Given the description of an element on the screen output the (x, y) to click on. 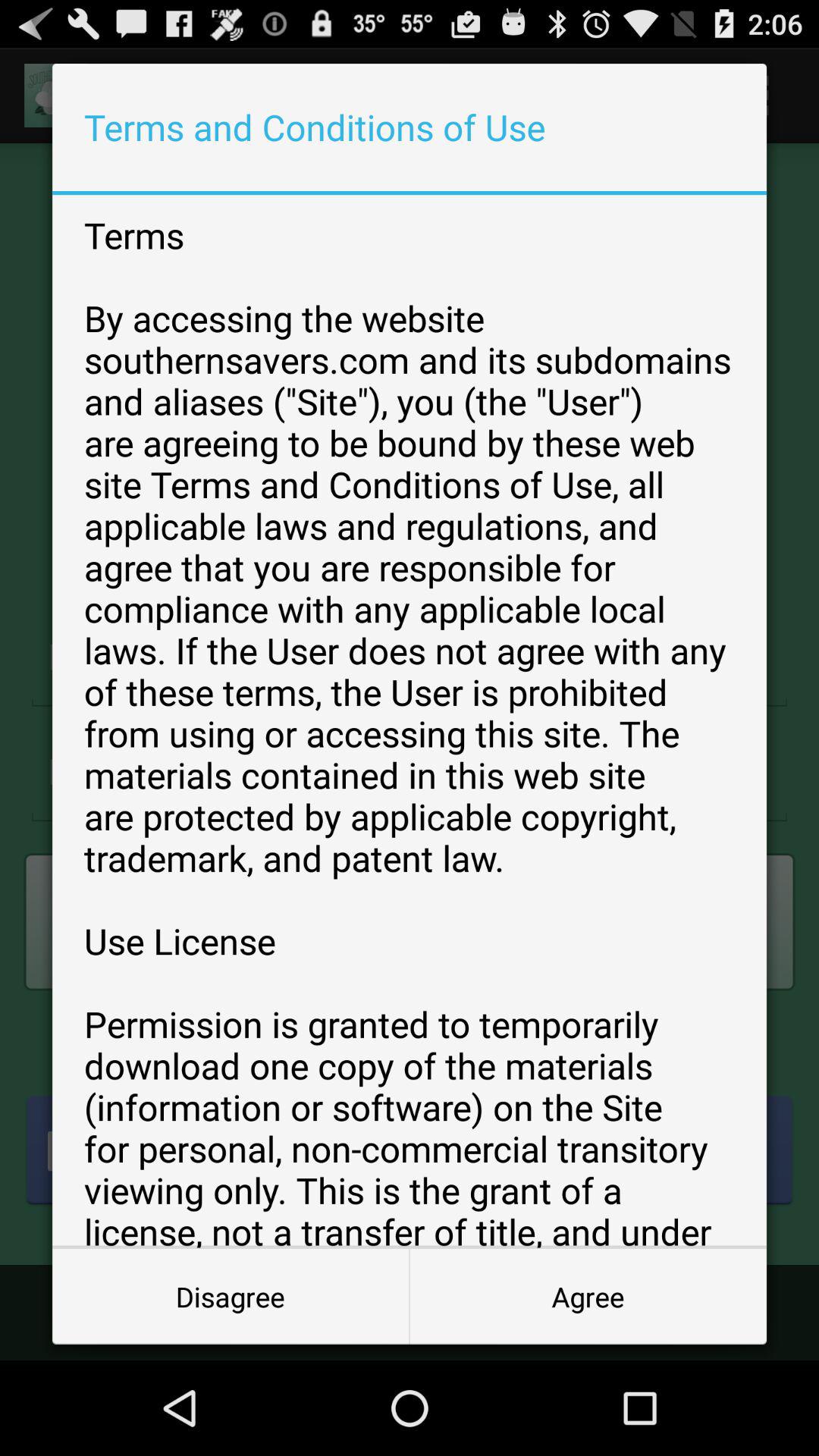
launch button to the left of agree button (230, 1296)
